Given the description of an element on the screen output the (x, y) to click on. 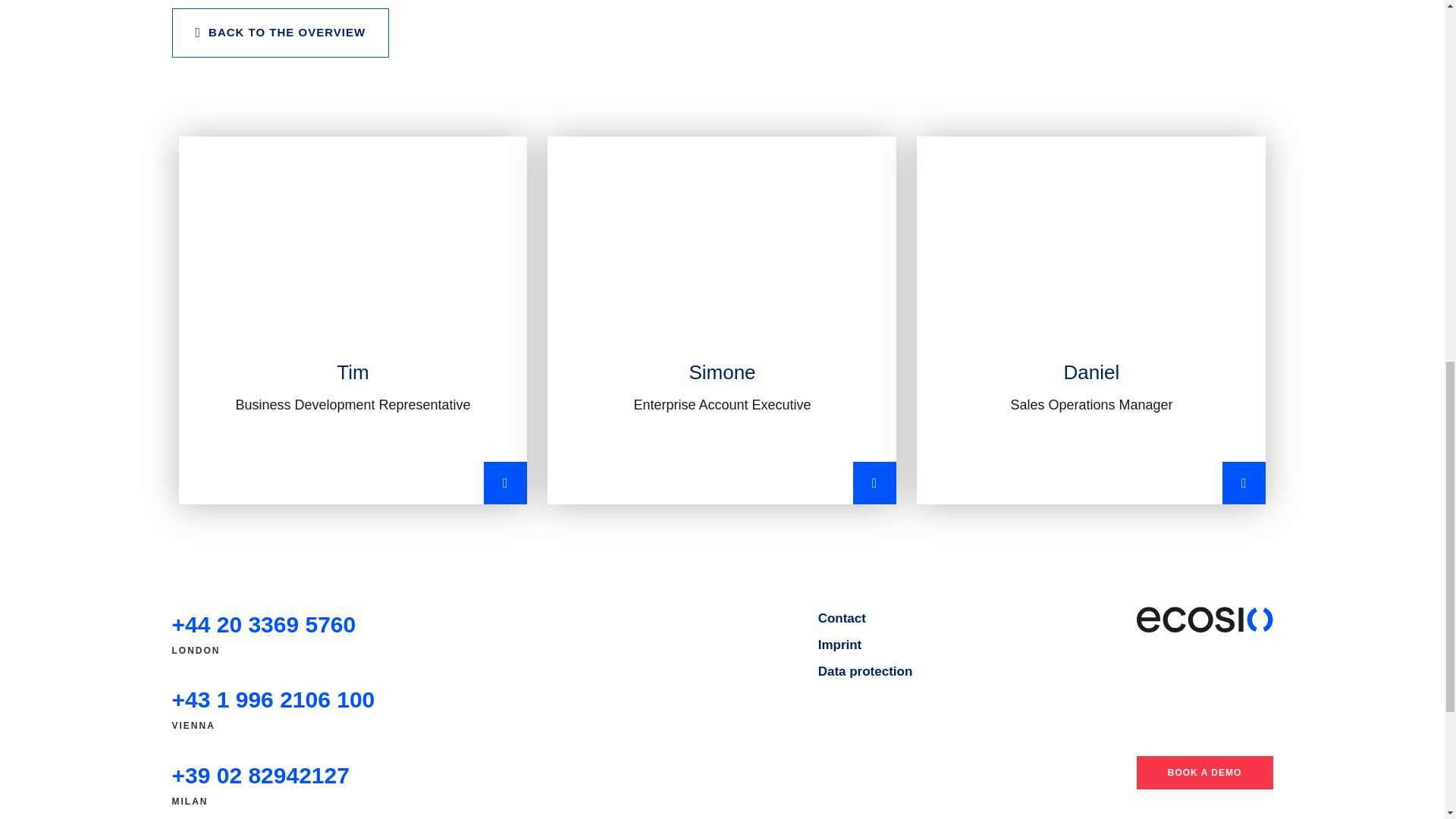
Data protection (865, 671)
Simone (721, 320)
Imprint (839, 645)
Contact (842, 618)
Tim (353, 320)
to the home page (1203, 619)
Ecosio VIENNA (272, 699)
Daniel (1091, 320)
Ecosio LONDON (263, 624)
Ecosio MILAN (260, 775)
